Given the description of an element on the screen output the (x, y) to click on. 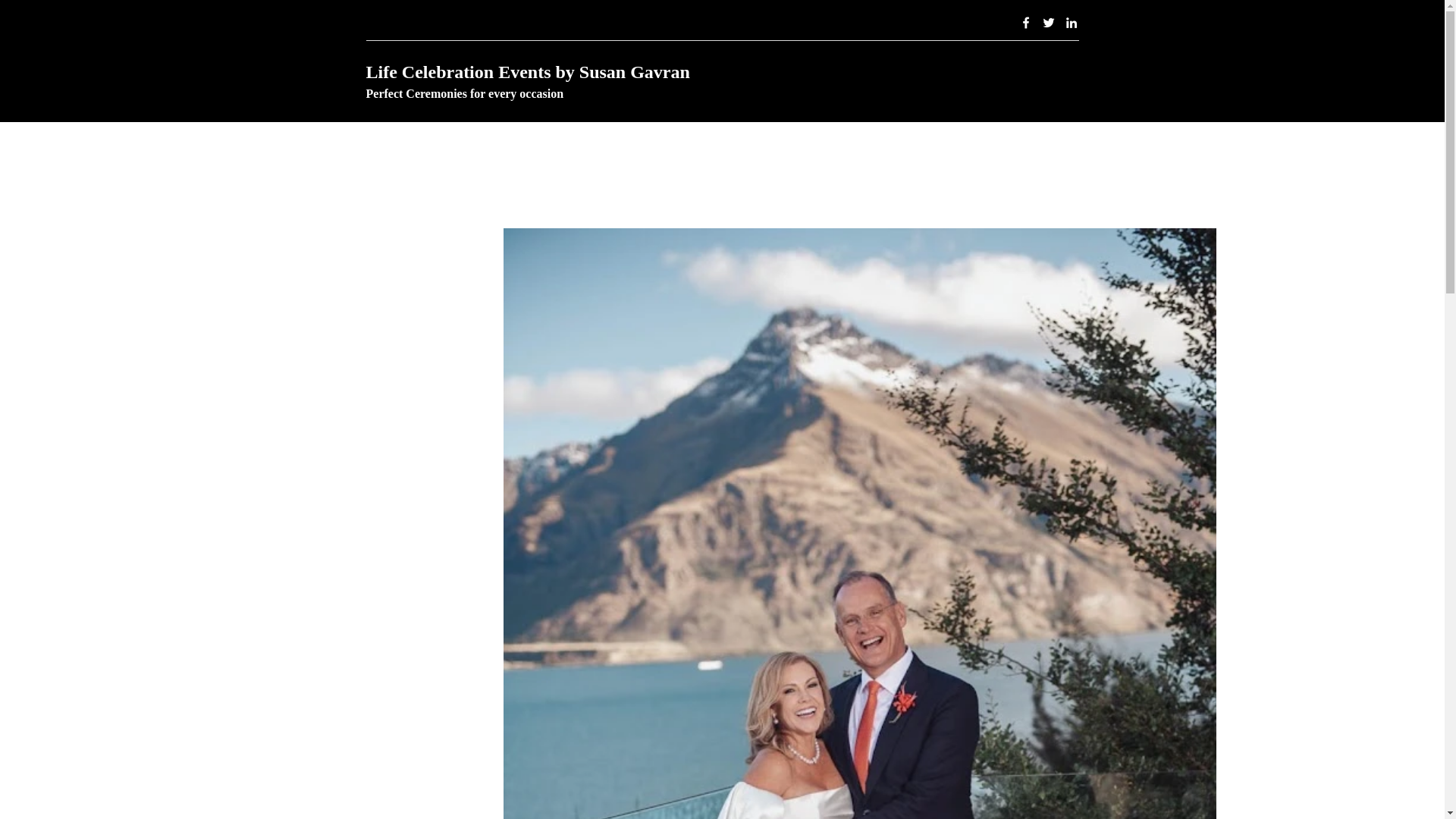
Life Celebration Events by Susan Gavran Element type: text (527, 71)
